Given the description of an element on the screen output the (x, y) to click on. 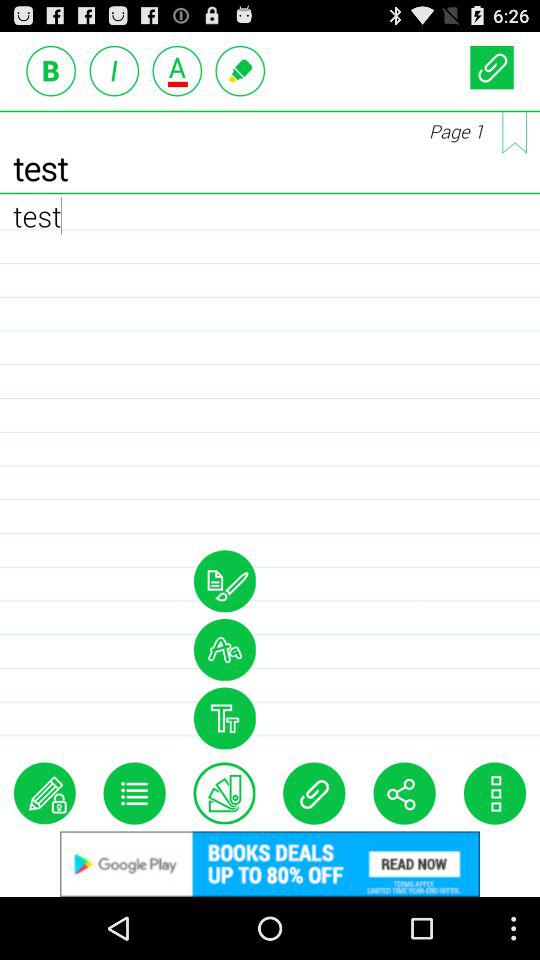
filter (224, 718)
